Given the description of an element on the screen output the (x, y) to click on. 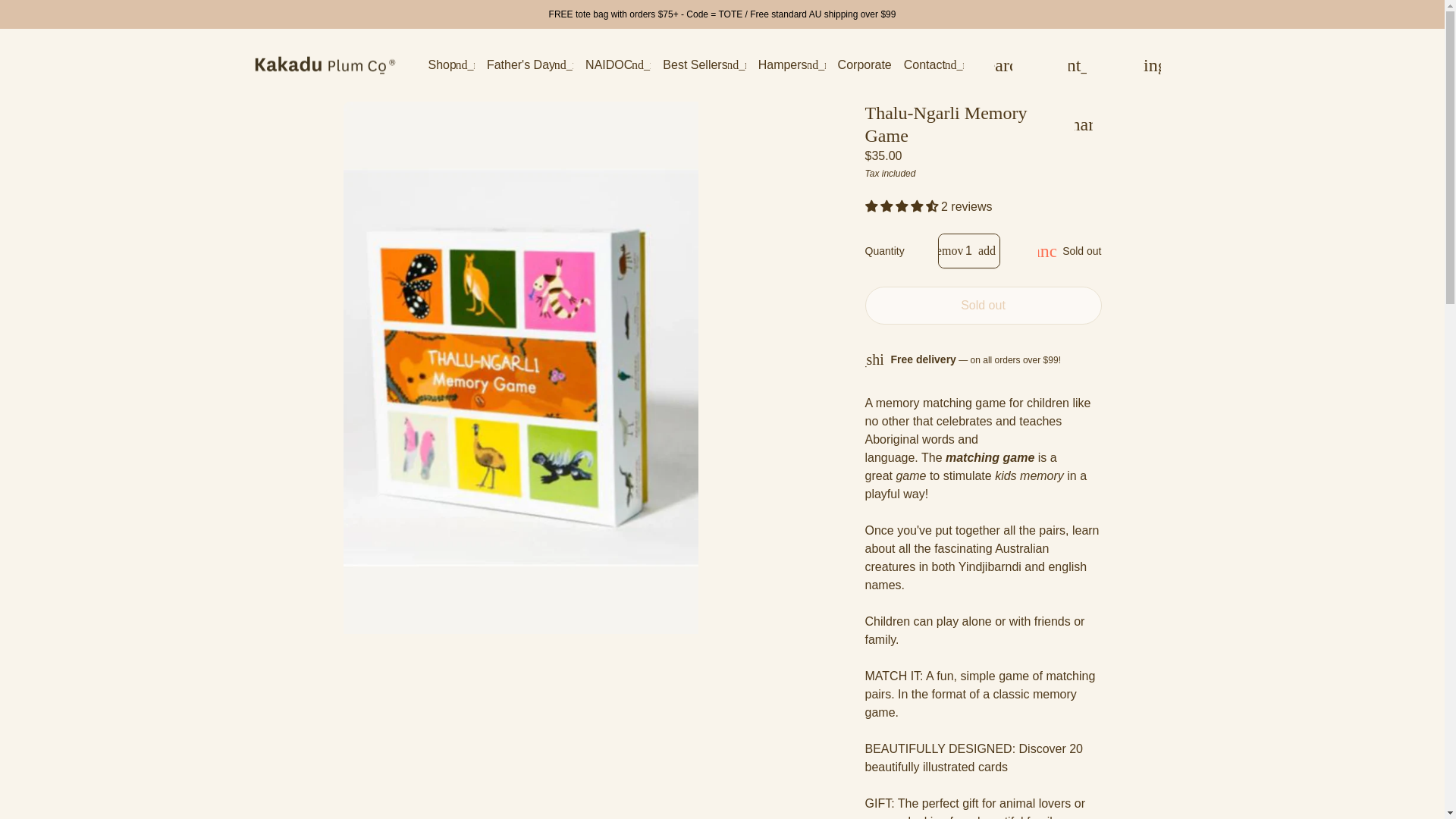
1 (968, 250)
